Given the description of an element on the screen output the (x, y) to click on. 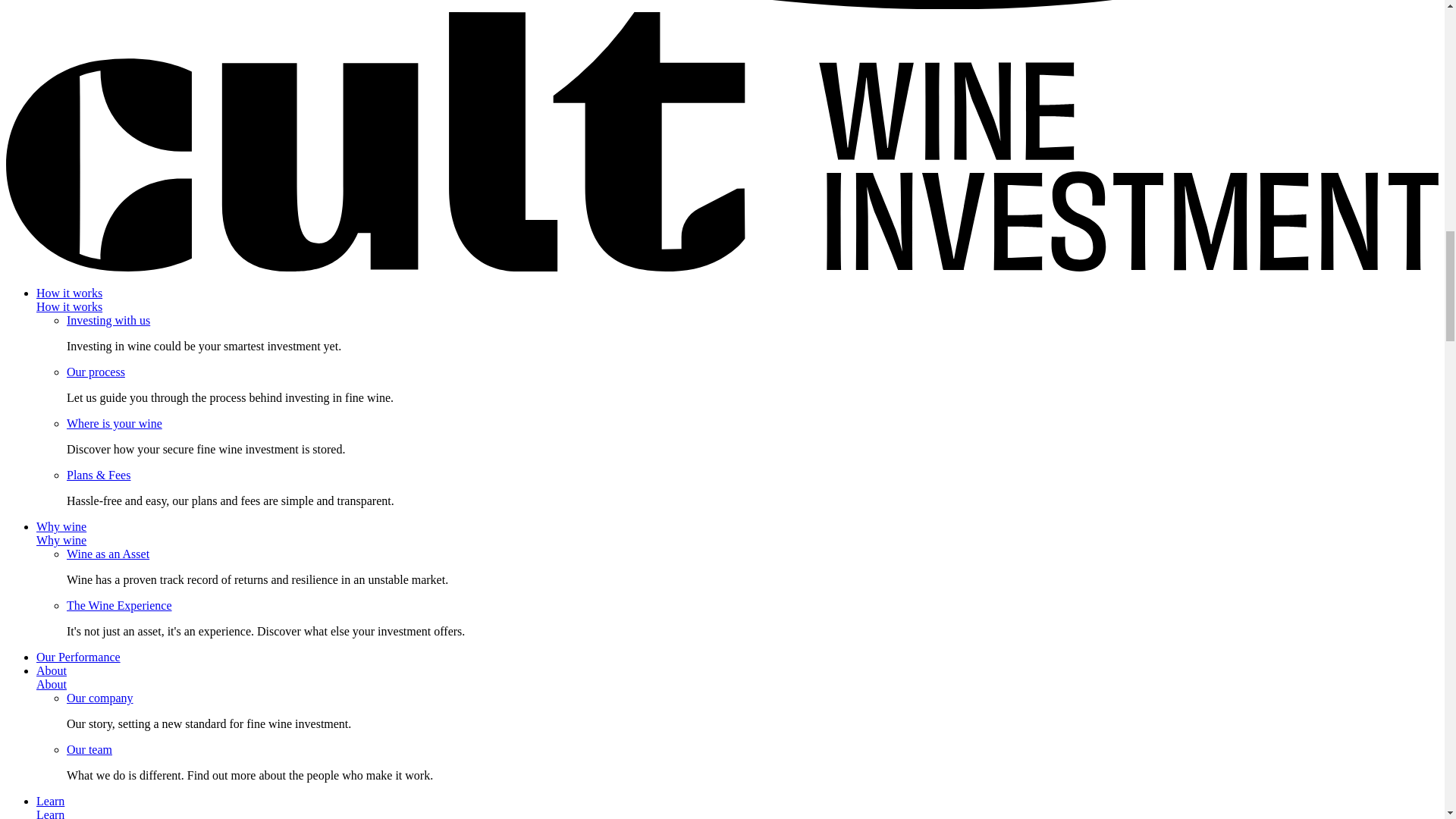
The Wine Experience (118, 604)
Where is your wine (113, 422)
Our company (99, 697)
How it works (68, 306)
Our team (89, 748)
Why wine (60, 540)
Our Performance (78, 656)
Investing with us (107, 319)
Learn (50, 813)
Wine as an Asset (107, 553)
